Given the description of an element on the screen output the (x, y) to click on. 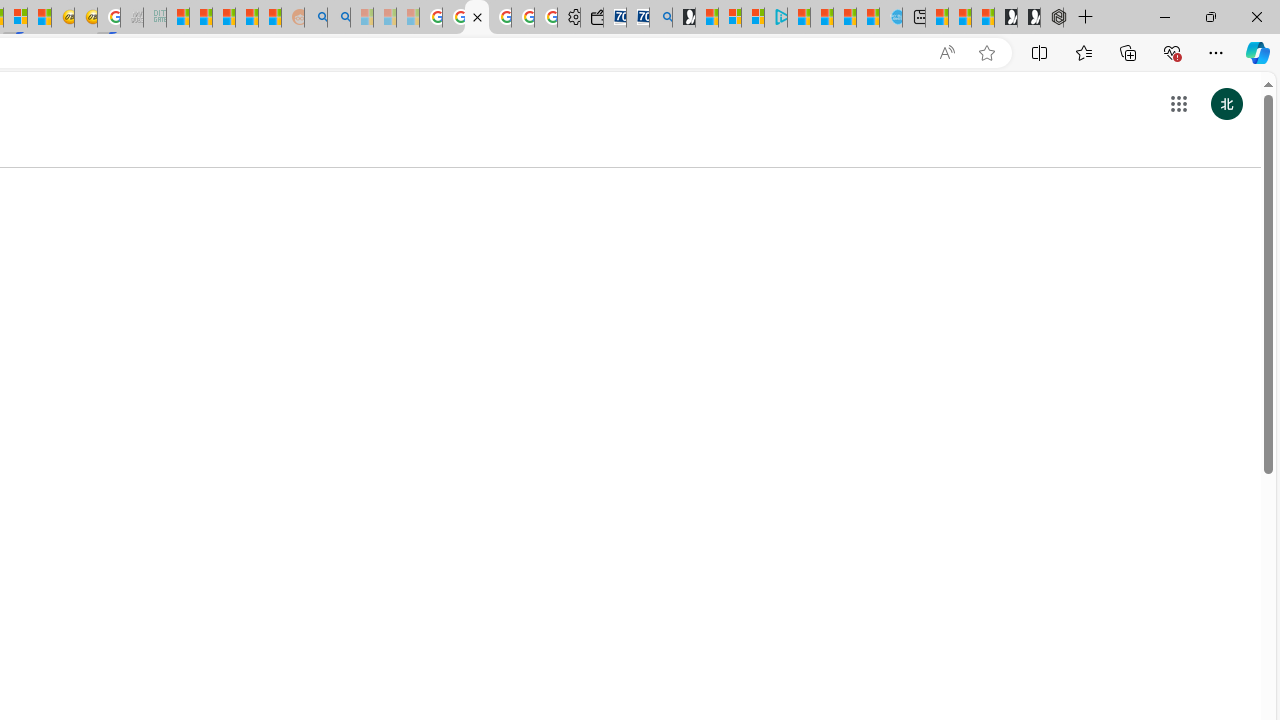
Wallet (591, 17)
Student Loan Update: Forgiveness Program Ends This Month (246, 17)
